Given the description of an element on the screen output the (x, y) to click on. 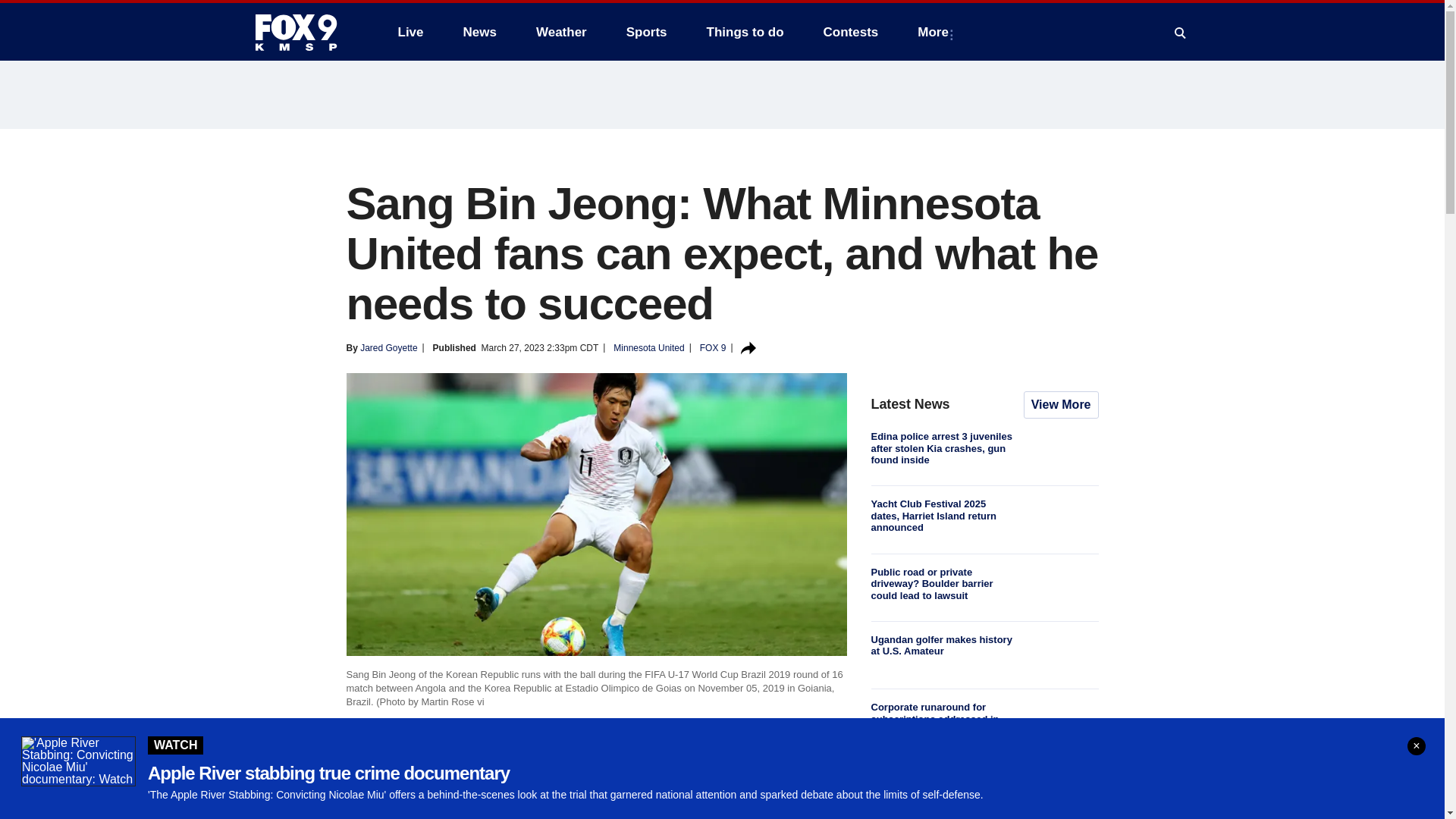
Weather (561, 32)
Things to do (745, 32)
News (479, 32)
More (935, 32)
Live (410, 32)
Contests (850, 32)
Sports (646, 32)
